Given the description of an element on the screen output the (x, y) to click on. 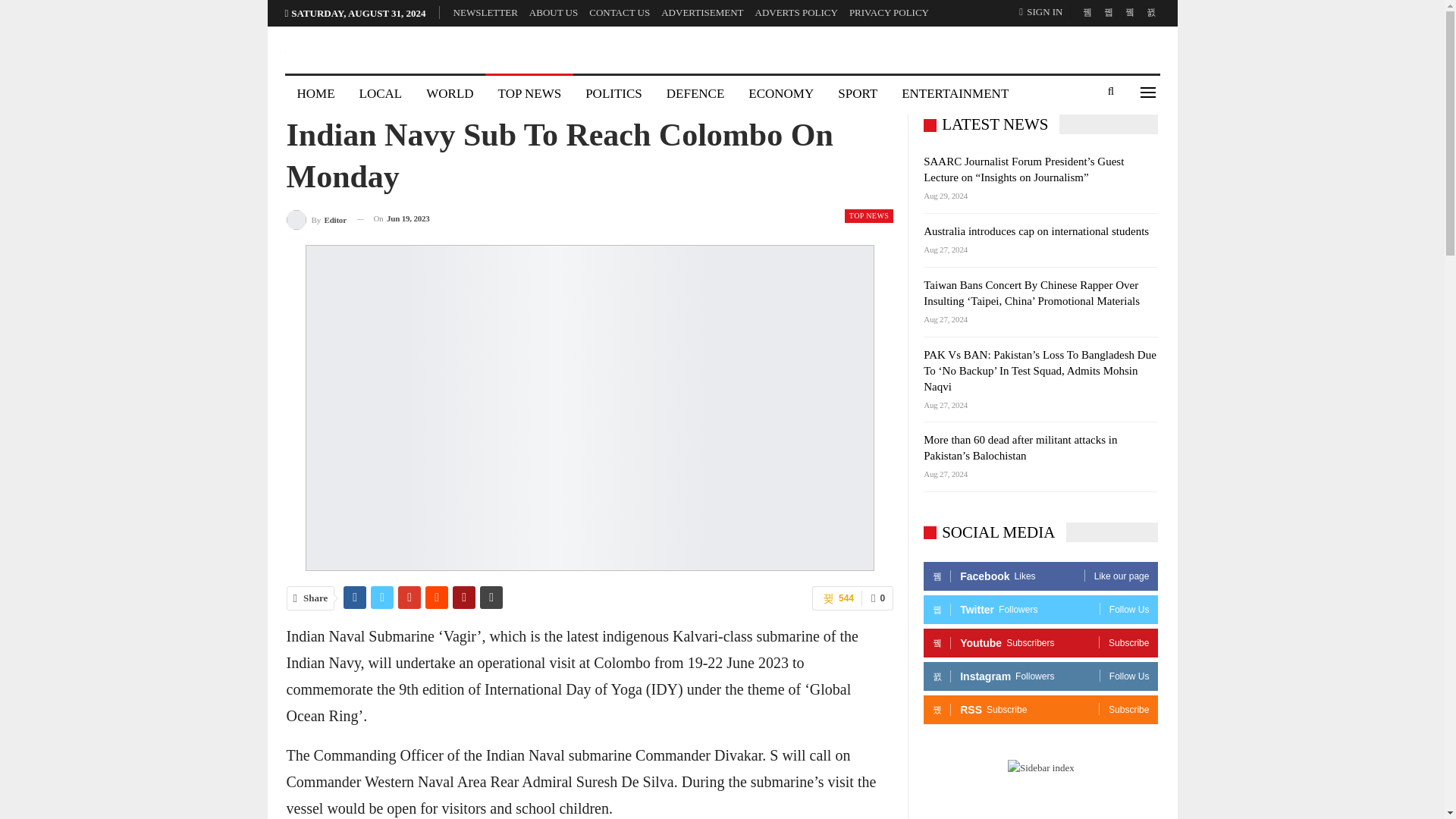
Browse Author Articles (316, 218)
TOP NEWS (868, 215)
PRIVACY POLICY (888, 12)
WORLD (448, 94)
HOME (316, 94)
By Editor (316, 218)
DEFENCE (694, 94)
CONTACT US (619, 12)
TOP NEWS (529, 94)
SIGN IN (1043, 12)
